Given the description of an element on the screen output the (x, y) to click on. 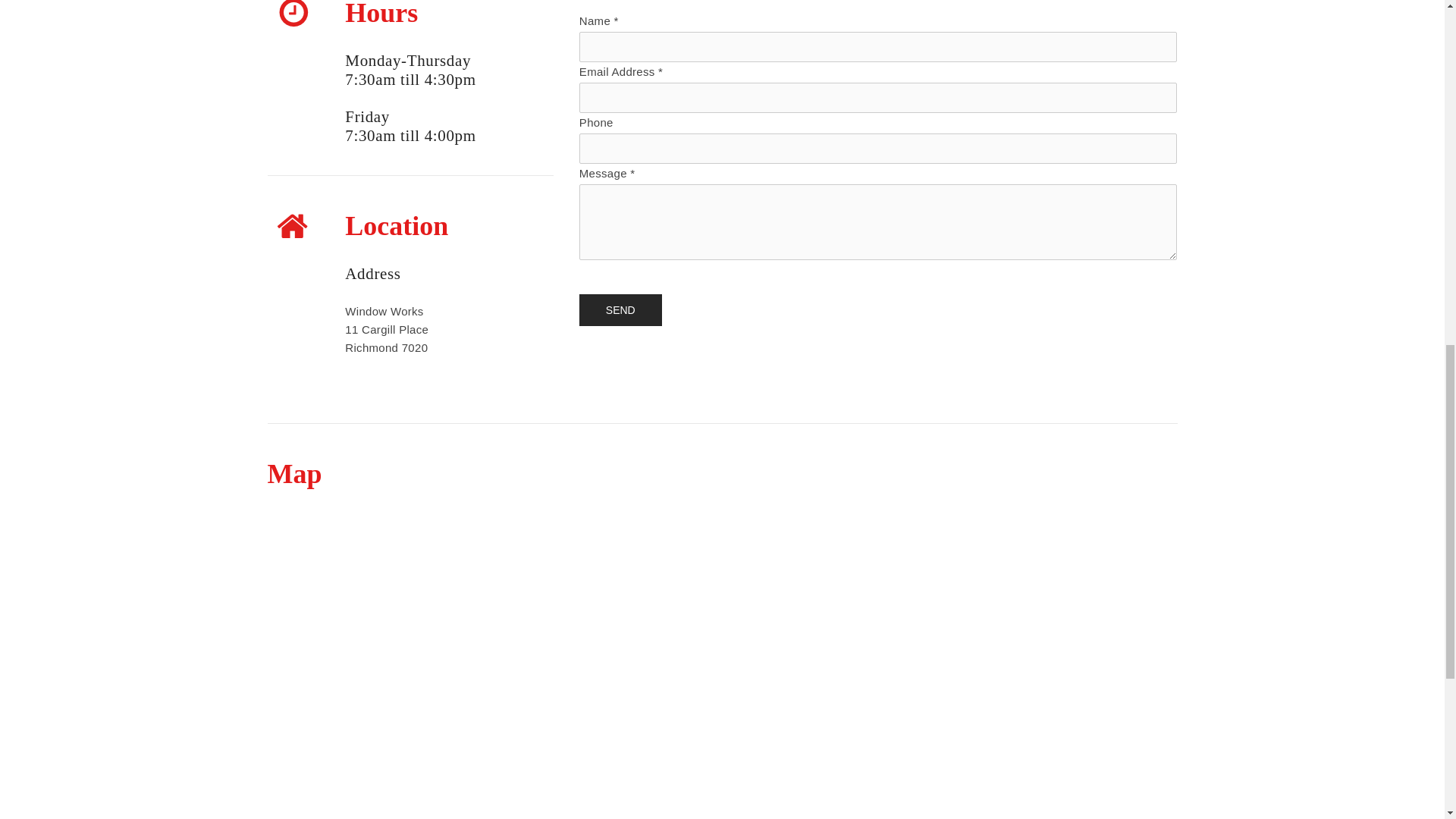
SEND (620, 309)
SEND (620, 309)
